Given the description of an element on the screen output the (x, y) to click on. 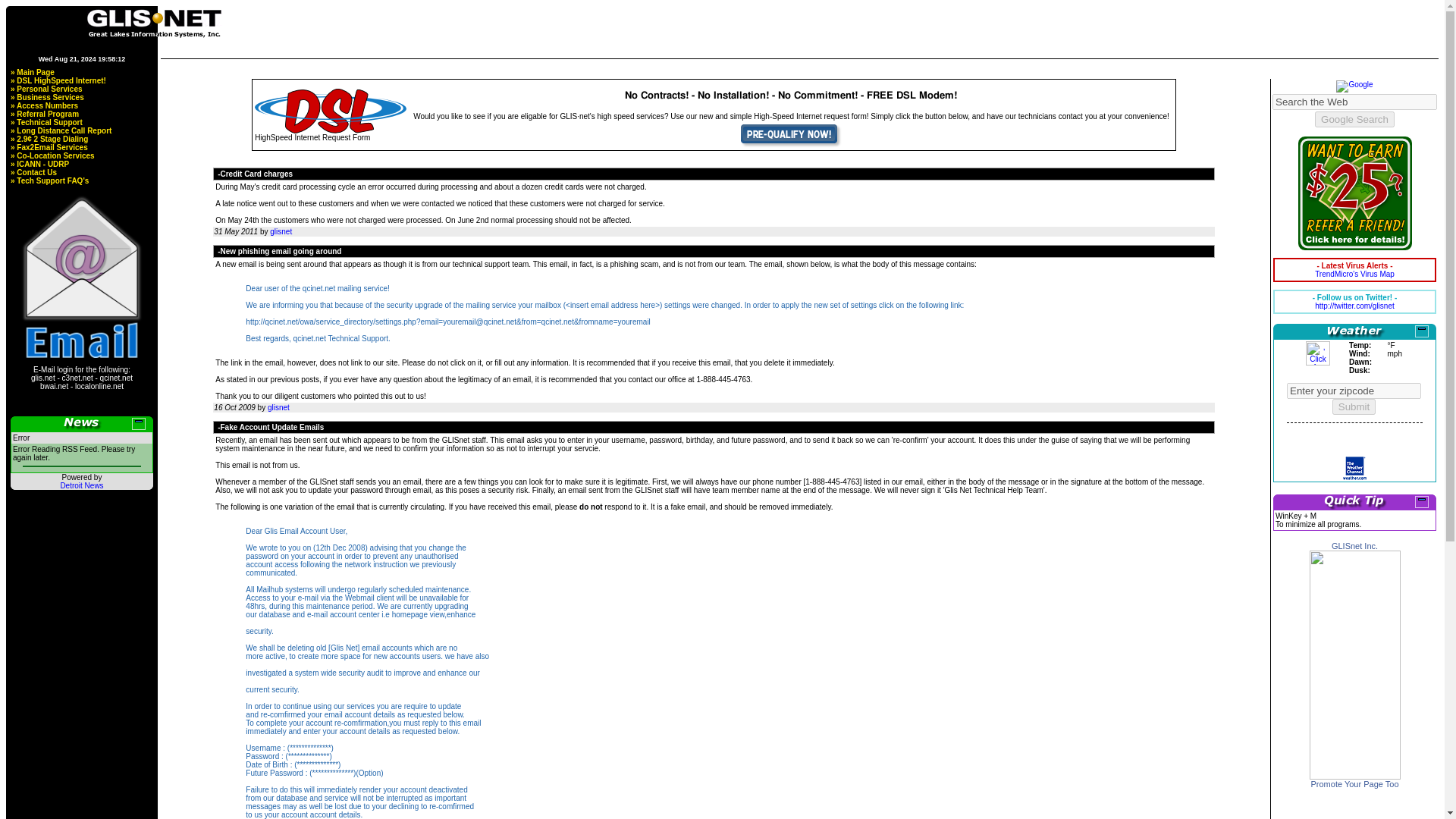
Detroit News (81, 485)
Submit (1353, 406)
GLISnet Inc. (1354, 545)
GLISnet Inc. (1354, 545)
glisnet (278, 407)
, Detailed weather for 48038 (1318, 353)
Google Search (1354, 119)
GLISnet Inc. (1353, 777)
glisnet (280, 231)
Google Search (1354, 119)
